Given the description of an element on the screen output the (x, y) to click on. 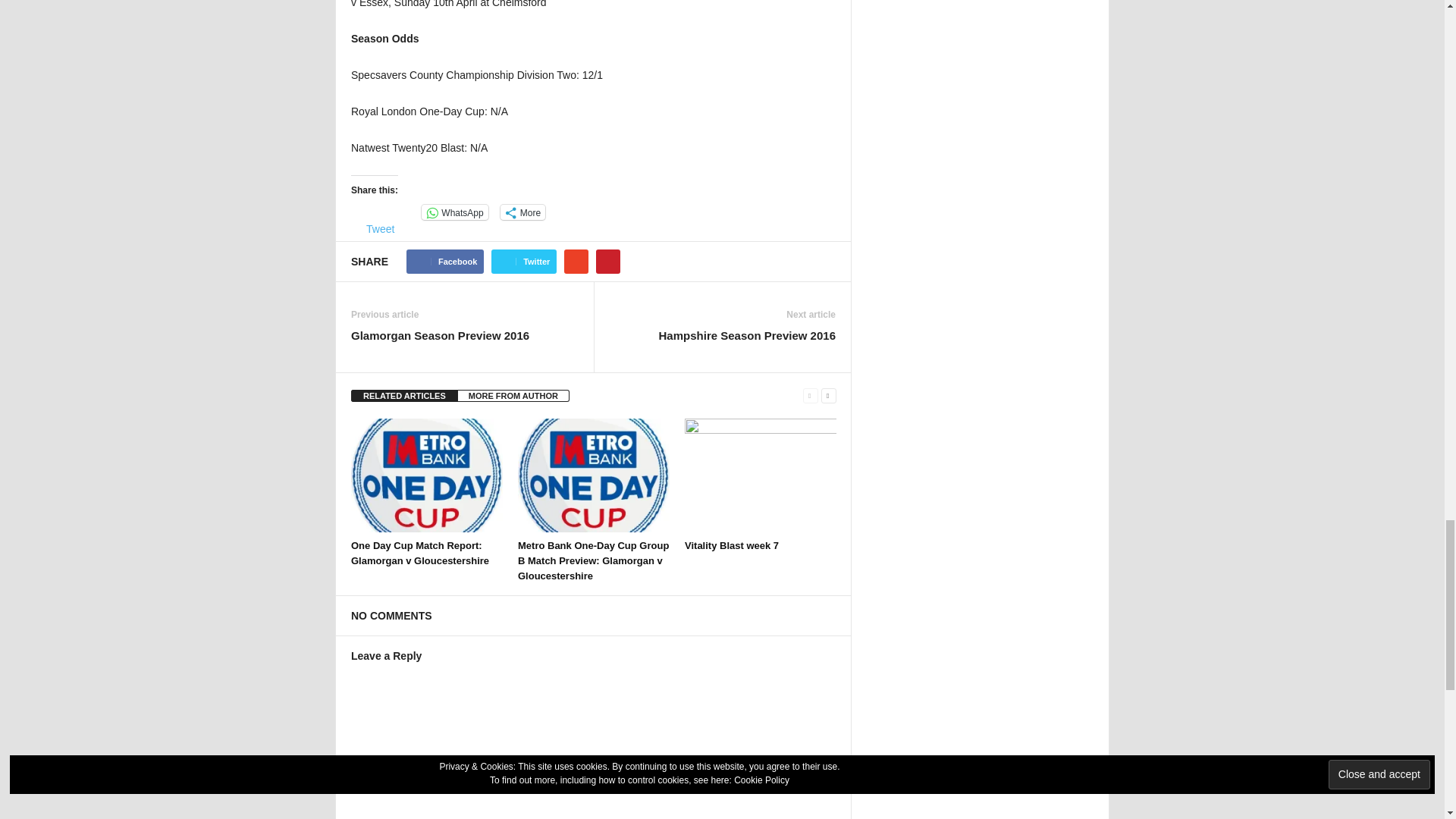
Click to share on WhatsApp (454, 212)
More (522, 212)
WhatsApp (454, 212)
One Day Cup Match Report: Glamorgan v Gloucestershire (426, 475)
One Day Cup Match Report: Glamorgan v Gloucestershire (419, 552)
